Given the description of an element on the screen output the (x, y) to click on. 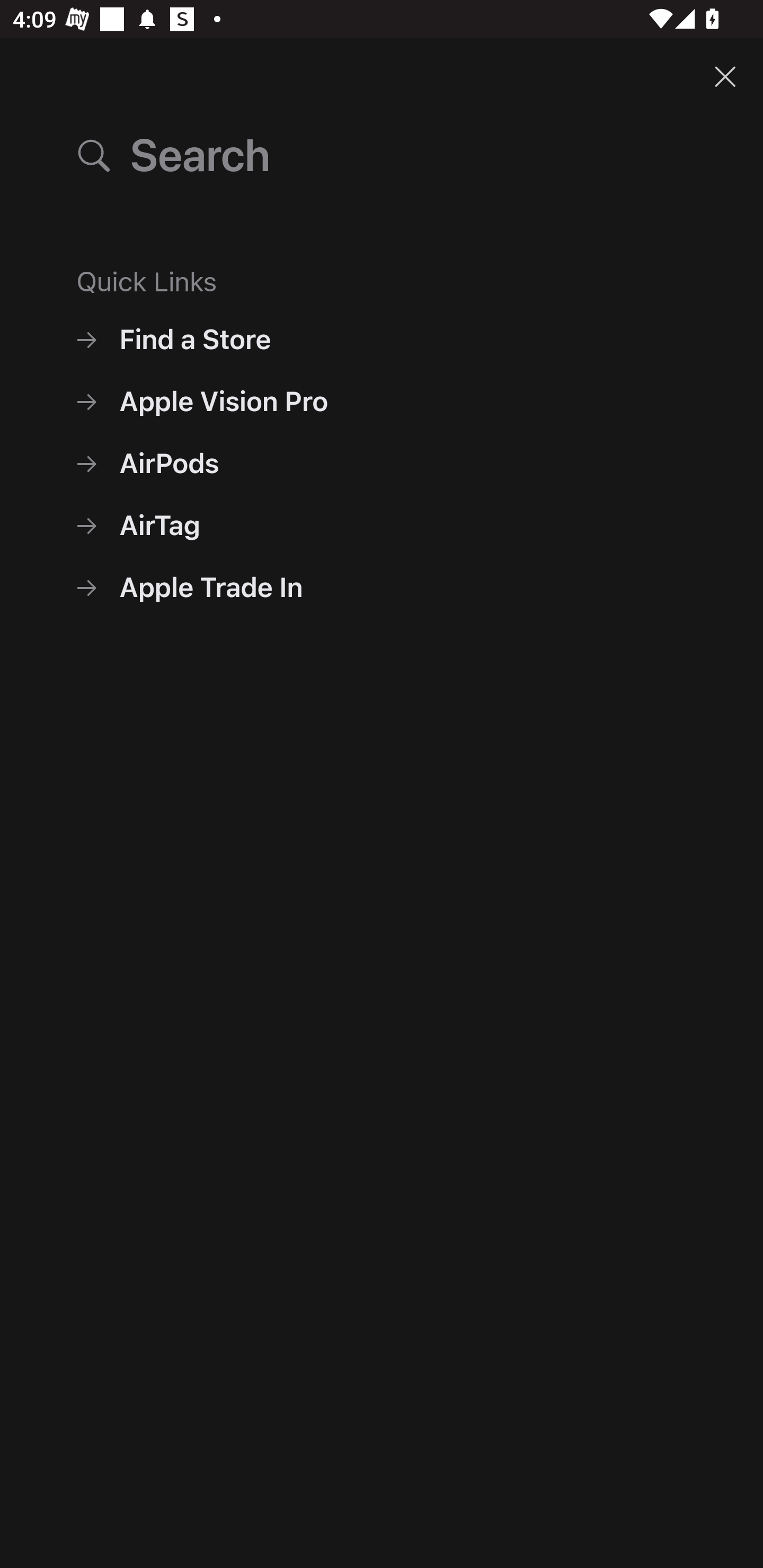
Close (724, 75)
Find a Store (381, 339)
Apple Vision Pro (381, 401)
AirPods (381, 463)
AirTag (381, 524)
Apple Trade In (381, 587)
